Given the description of an element on the screen output the (x, y) to click on. 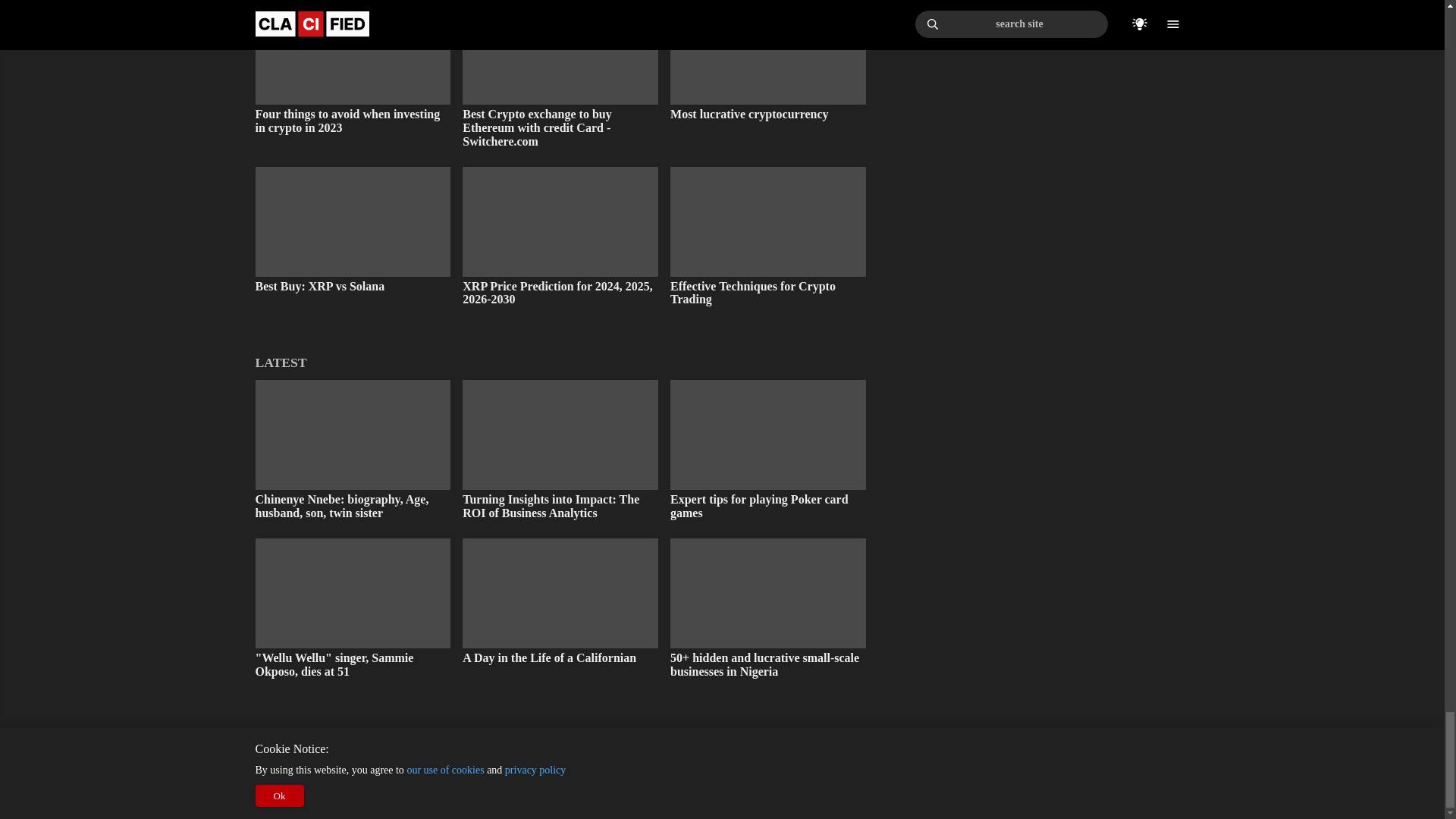
Effective Techniques for Crypto Trading (767, 237)
Four things to avoid when investing in crypto in 2023 (351, 67)
Most lucrative cryptocurrency (767, 60)
XRP Price Prediction for 2024, 2025, 2026-2030 (560, 237)
Best Buy: XRP vs Solana (351, 230)
